Given the description of an element on the screen output the (x, y) to click on. 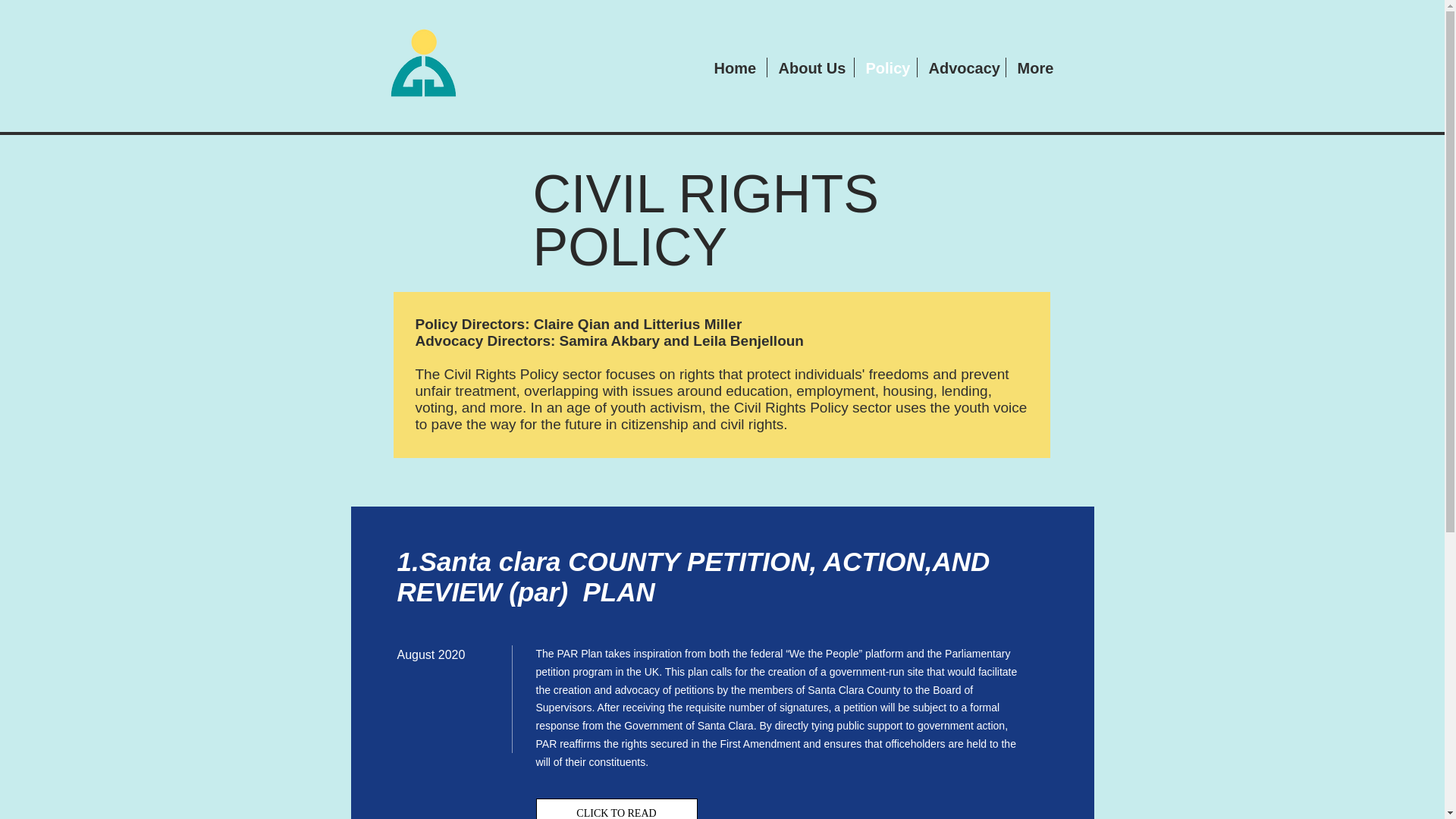
Advocacy (961, 66)
CLICK TO READ (616, 808)
Policy (884, 66)
Home (733, 66)
